Given the description of an element on the screen output the (x, y) to click on. 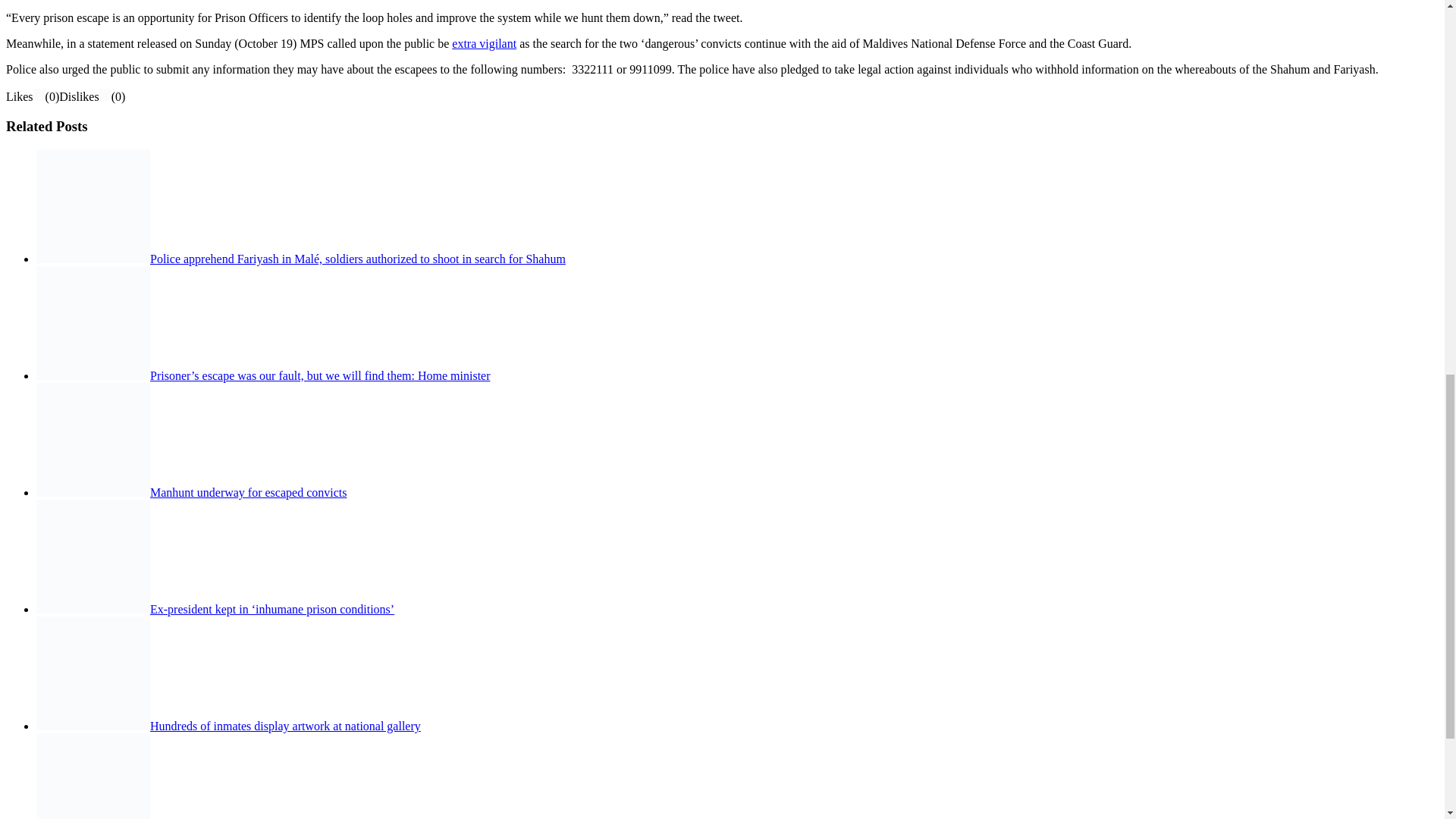
extra vigilant (483, 42)
Hundreds of inmates display artwork at national gallery (284, 725)
Manhunt underway for escaped convicts (247, 492)
